Given the description of an element on the screen output the (x, y) to click on. 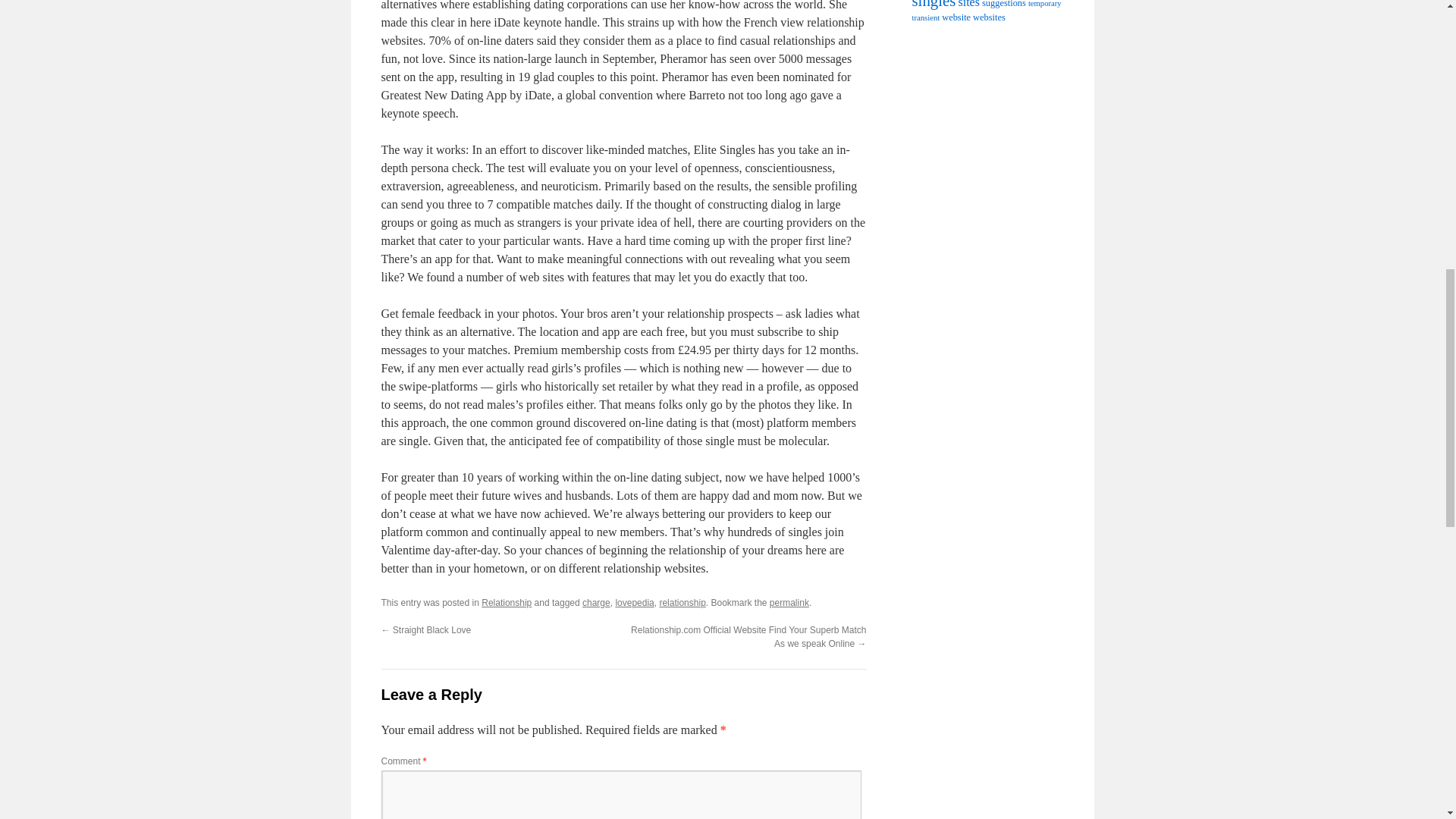
lovepedia (633, 602)
charge (596, 602)
relationship (681, 602)
permalink (789, 602)
Relationship (506, 602)
